Given the description of an element on the screen output the (x, y) to click on. 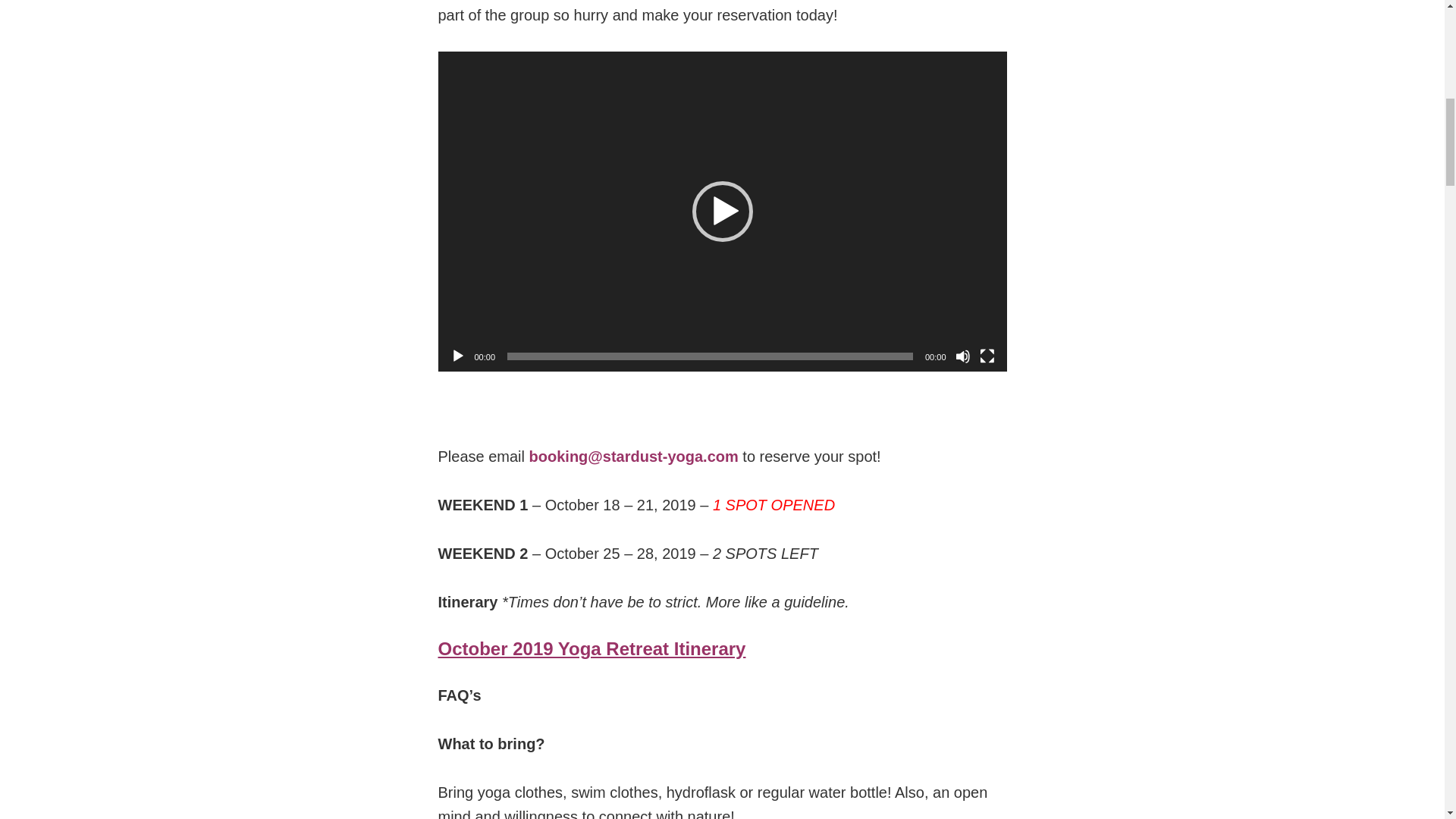
October 2019 Yoga Retreat Itinerary (591, 648)
Play (457, 355)
Fullscreen (986, 355)
Mute (963, 355)
